Given the description of an element on the screen output the (x, y) to click on. 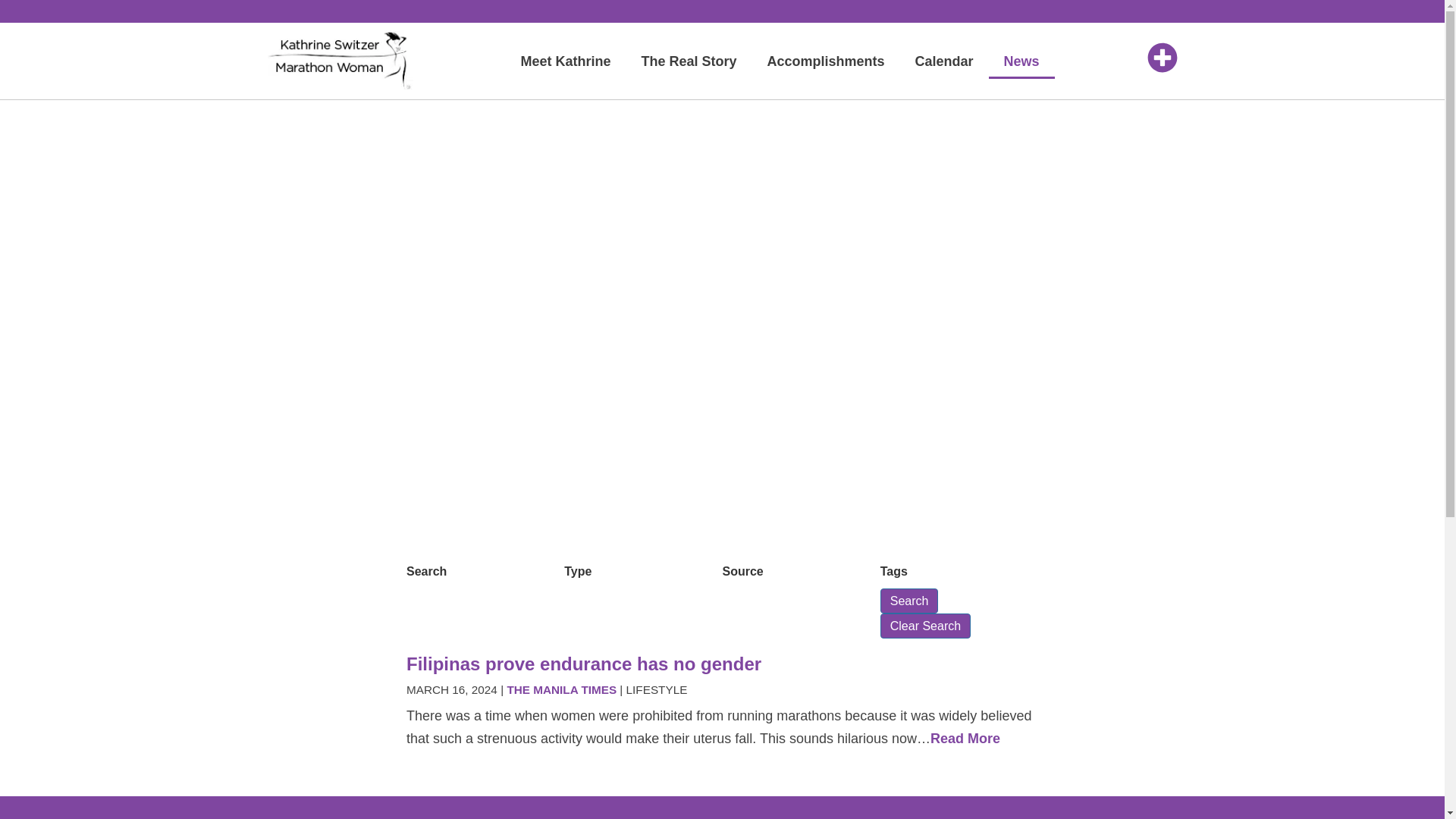
The Real Story (688, 61)
Meet Kathrine (565, 61)
Filipinas prove endurance has no gender (583, 663)
Search (909, 600)
Filipinas prove endurance has no gender (583, 663)
Calendar (943, 61)
News (1021, 61)
THE MANILA TIMES (560, 689)
Read More (965, 738)
Clear Search (925, 625)
Accomplishments (825, 61)
